Given the description of an element on the screen output the (x, y) to click on. 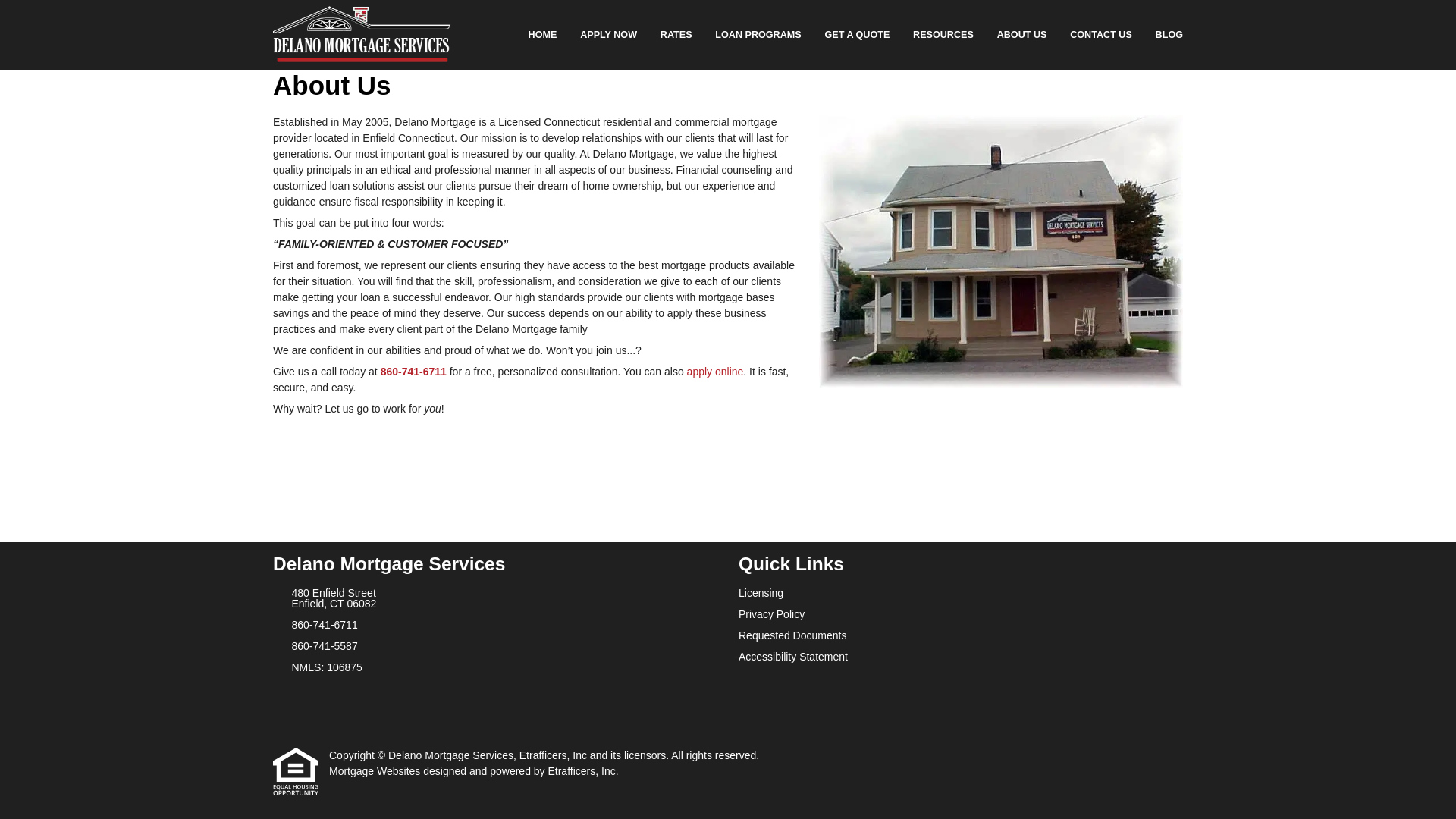
Licensing (960, 593)
CONTACT US (1100, 34)
APPLY NOW (609, 34)
LOAN PROGRAMS (757, 34)
GET A QUOTE (856, 34)
Requested Documents (960, 634)
860-741-6711 (413, 371)
Privacy Policy (960, 614)
apply online (715, 371)
RESOURCES (943, 34)
